Given the description of an element on the screen output the (x, y) to click on. 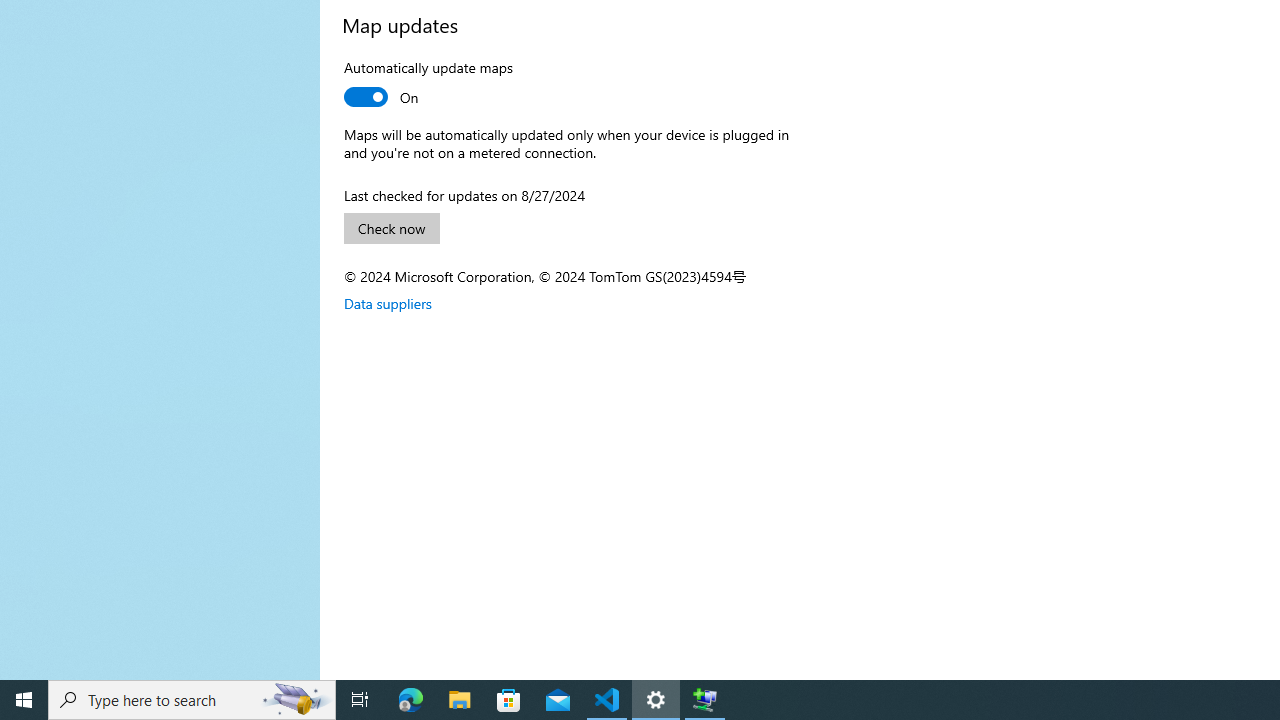
Extensible Wizards Host Process - 1 running window (704, 699)
Check now (392, 228)
Data suppliers (388, 303)
Automatically update maps (428, 85)
